Given the description of an element on the screen output the (x, y) to click on. 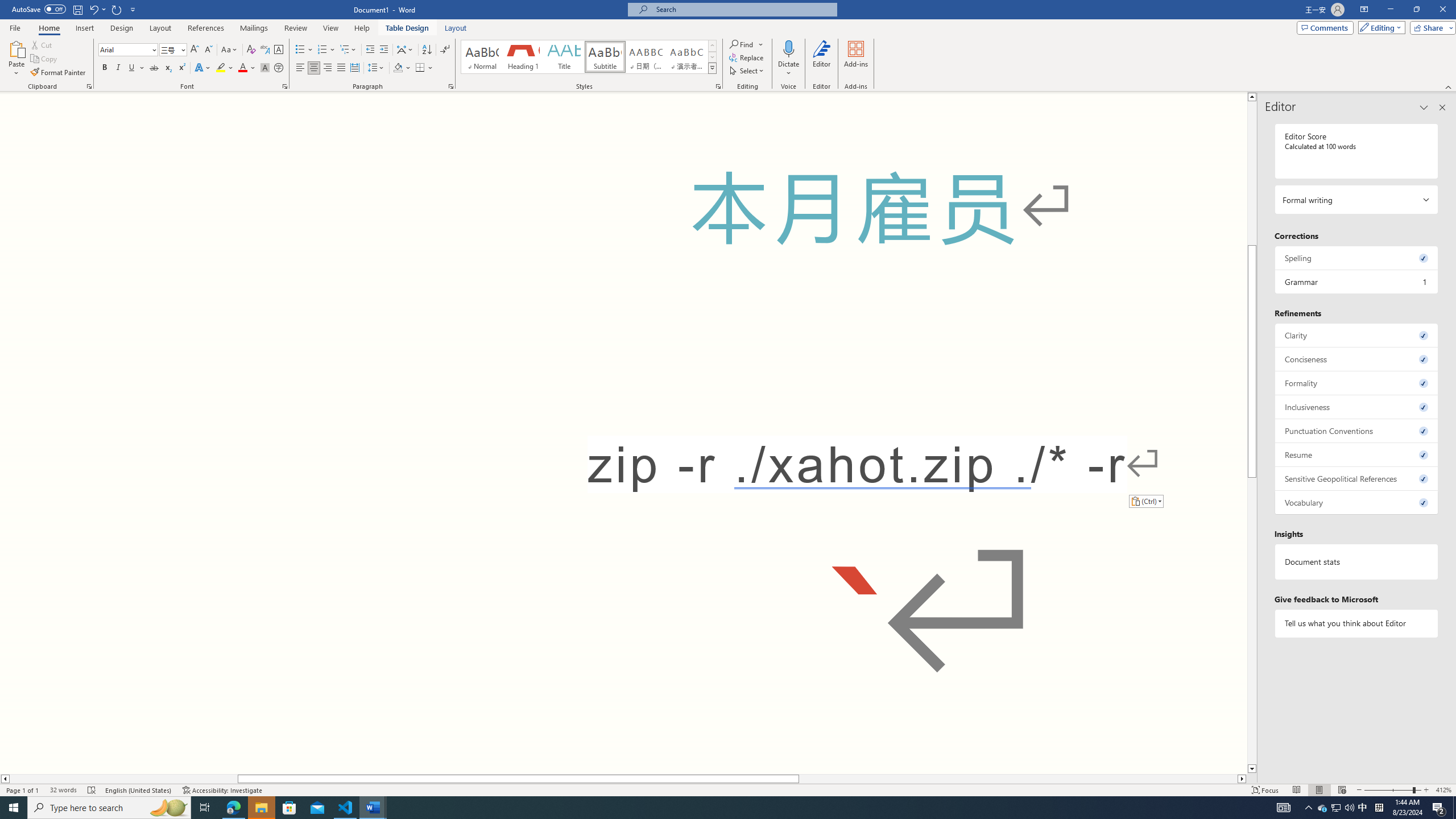
Sort... (426, 49)
Page up (1251, 172)
Line and Paragraph Spacing (376, 67)
Subtitle (605, 56)
Heading 1 (522, 56)
Select (747, 69)
Microsoft search (742, 9)
Table Design (407, 28)
Italic (118, 67)
